Given the description of an element on the screen output the (x, y) to click on. 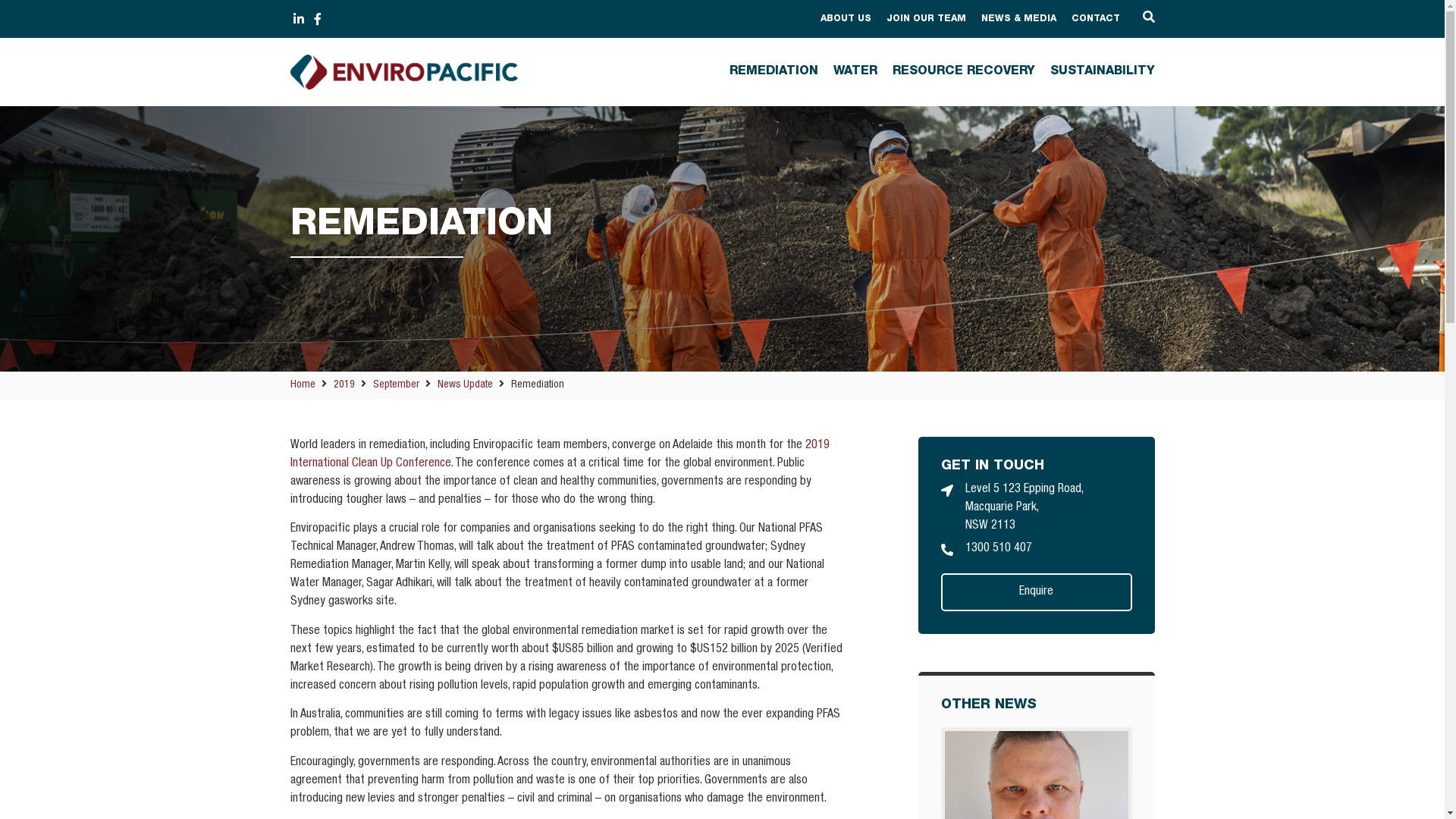
JOIN OUR TEAM Element type: text (925, 18)
NEWS & MEDIA Element type: text (1018, 18)
REMEDIATION Element type: text (766, 71)
News Update Element type: text (464, 385)
WATER Element type: text (846, 71)
2019 International Clean Up Conference Element type: text (558, 454)
Home Element type: text (301, 385)
2019 Element type: text (343, 385)
CONTACT Element type: text (1094, 18)
RESOURCE RECOVERY Element type: text (955, 71)
Enquire Element type: text (1035, 592)
SUSTAINABILITY Element type: text (1094, 71)
September Element type: text (396, 385)
ABOUT US Element type: text (845, 18)
